Given the description of an element on the screen output the (x, y) to click on. 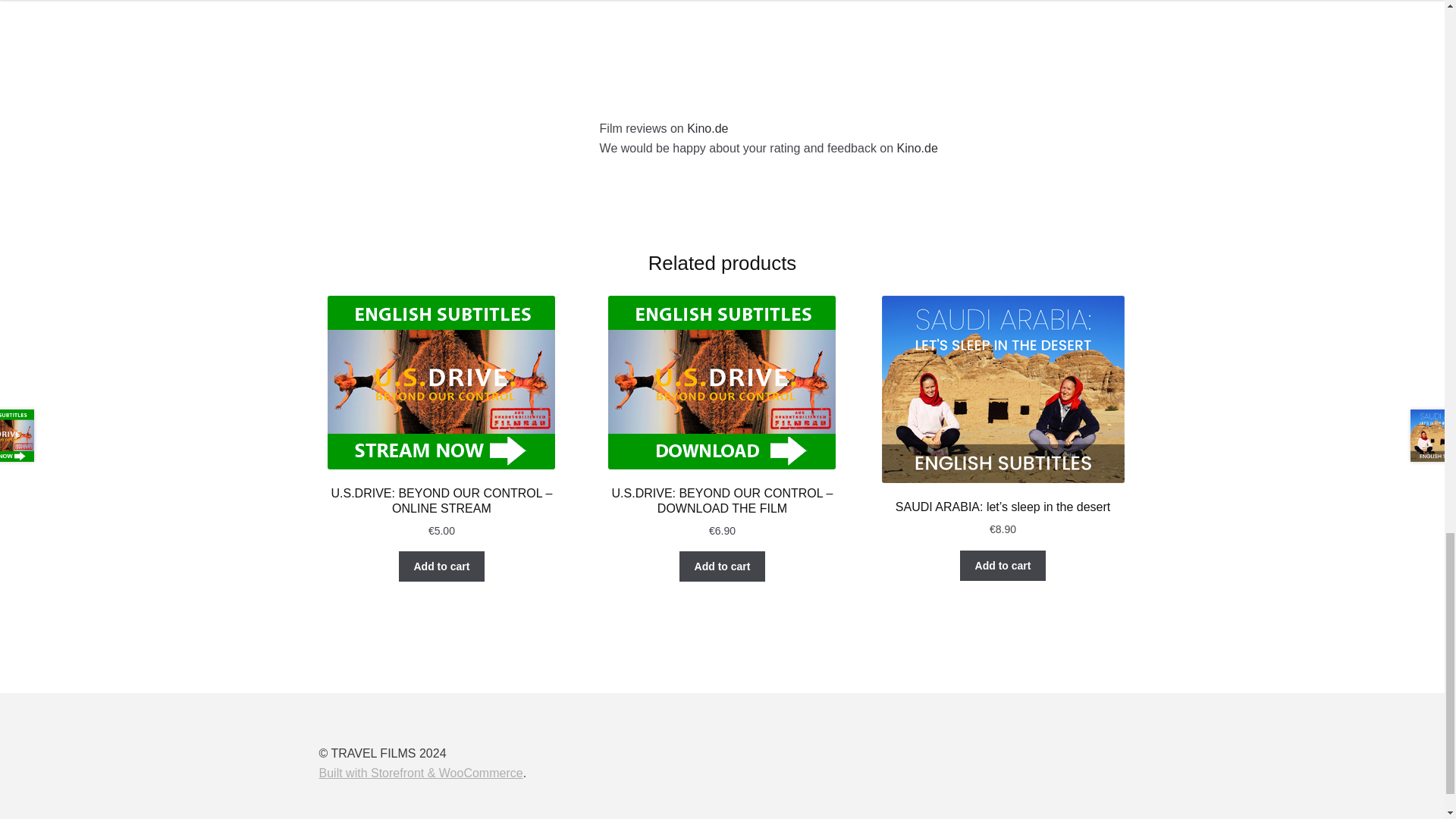
Kino.de (707, 128)
Add to cart (441, 566)
Kino.de (916, 147)
Anna Asia and me 250 Days on the road trailer ENG (862, 47)
Add to cart (722, 566)
WooCommerce - The Best eCommerce Platform for WordPress (420, 772)
Add to cart (1002, 565)
